Given the description of an element on the screen output the (x, y) to click on. 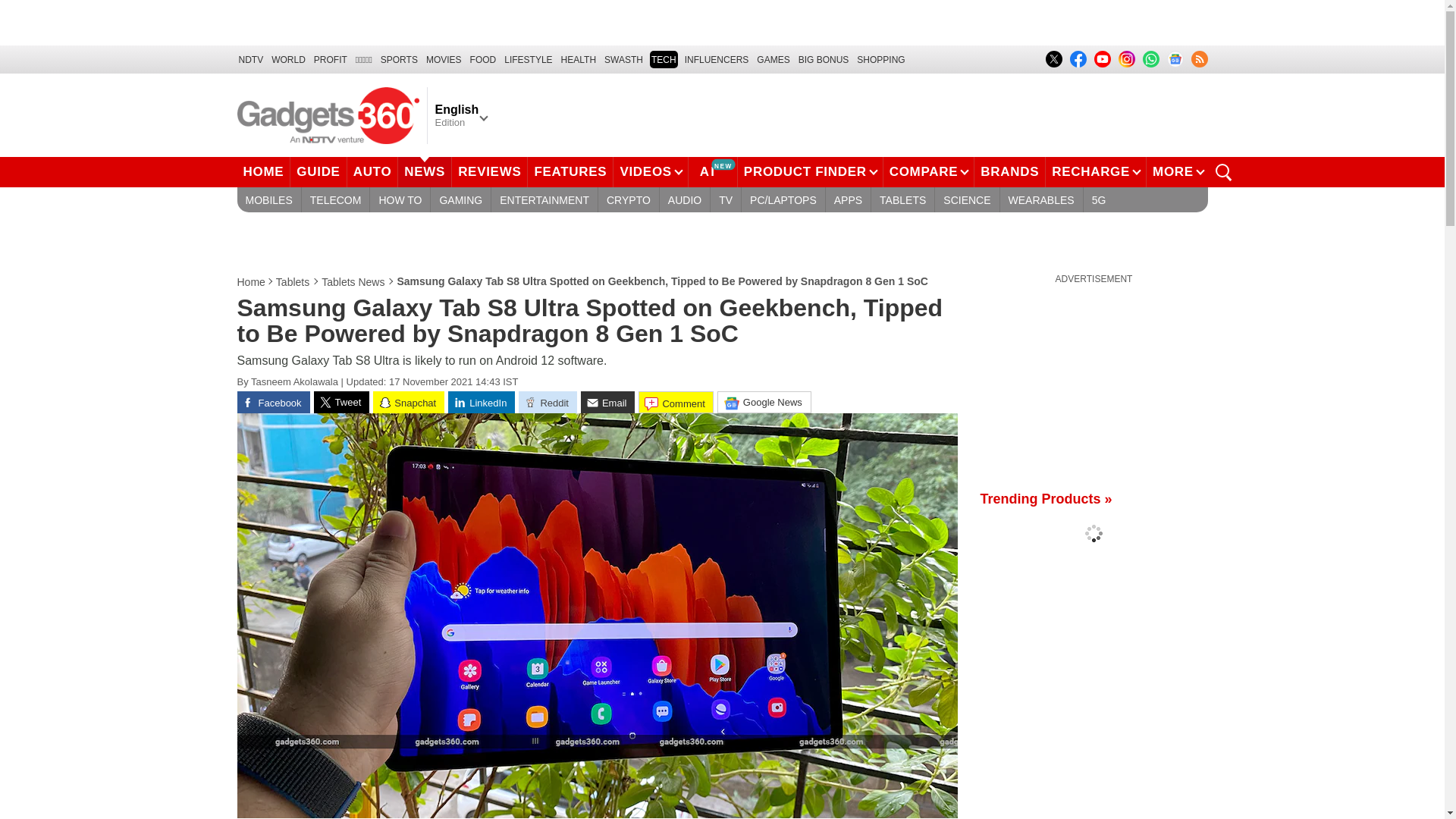
MOVIES (444, 58)
Home (250, 281)
NEWS (424, 172)
FOOD (482, 58)
GUIDE (317, 172)
SPORTS (398, 58)
VIDEOS (649, 172)
Gadgets 360 (327, 114)
Profit (331, 58)
SWASTH (623, 58)
